Given the description of an element on the screen output the (x, y) to click on. 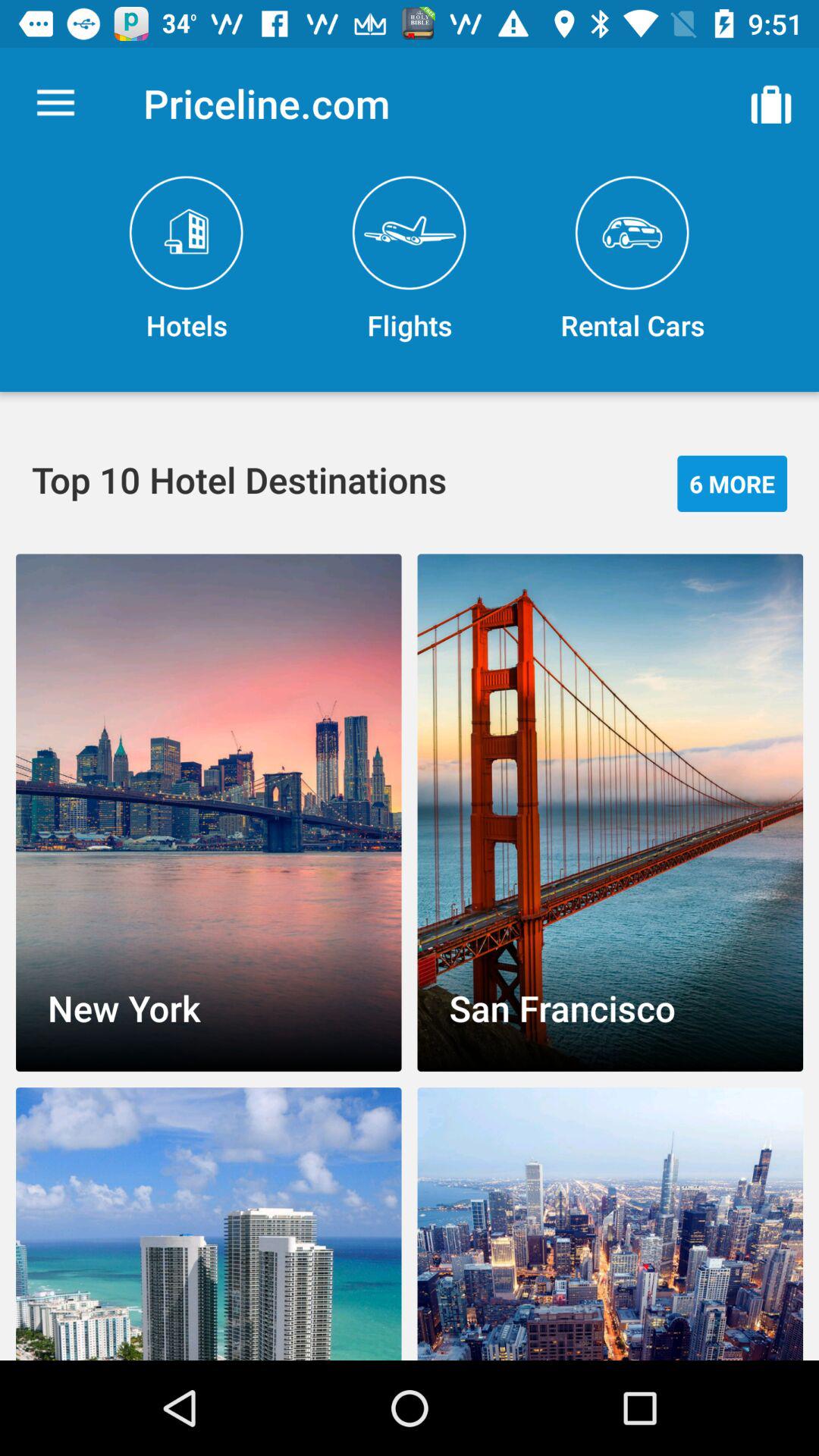
flip to the 6 more (732, 483)
